Given the description of an element on the screen output the (x, y) to click on. 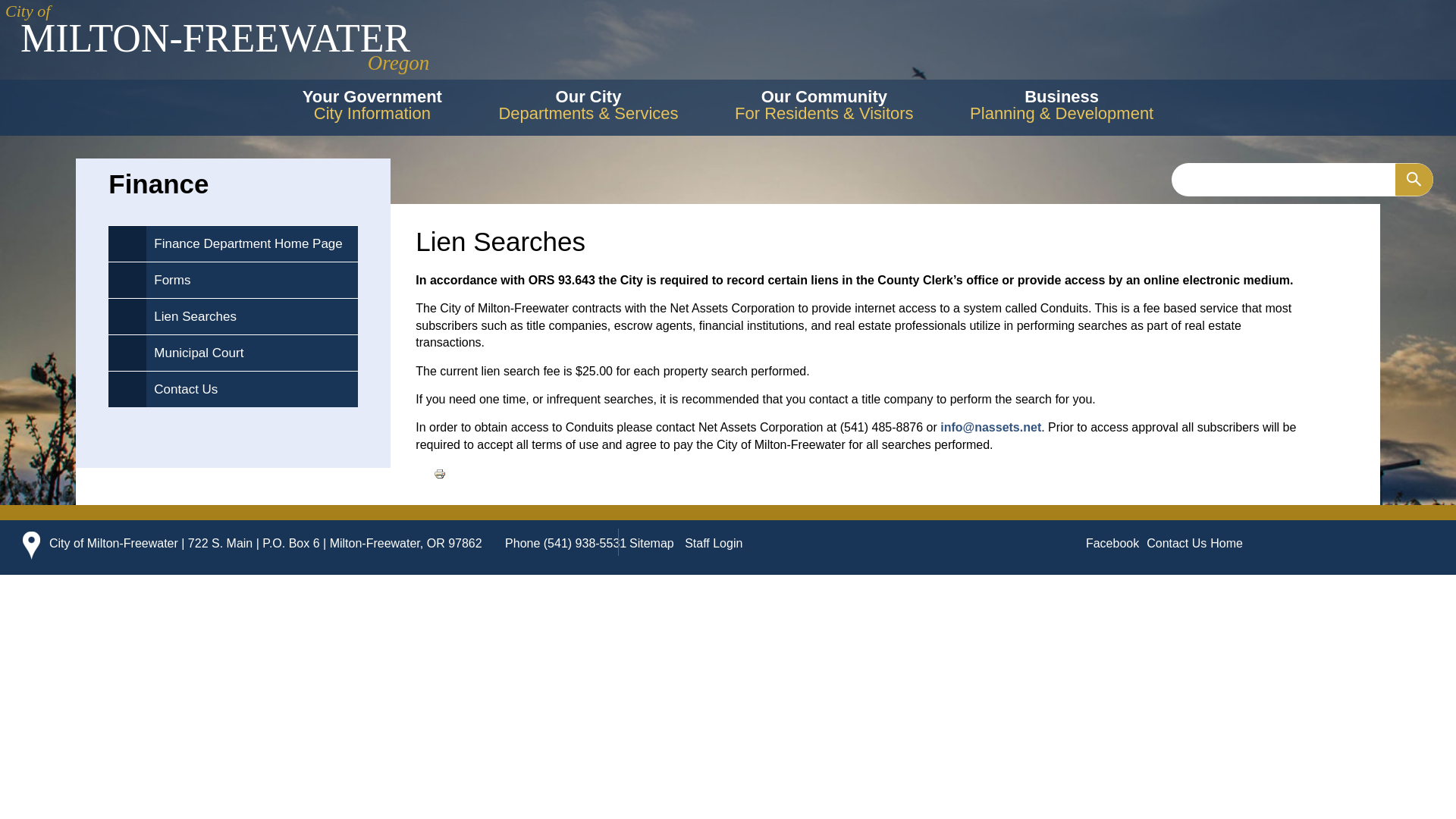
Search (207, 68)
Finance Department Forms (1413, 179)
Home (251, 280)
Enter the terms you wish to search for. (207, 68)
Printer-friendly version (1302, 179)
Skip to main content (439, 473)
Search (439, 472)
